Given the description of an element on the screen output the (x, y) to click on. 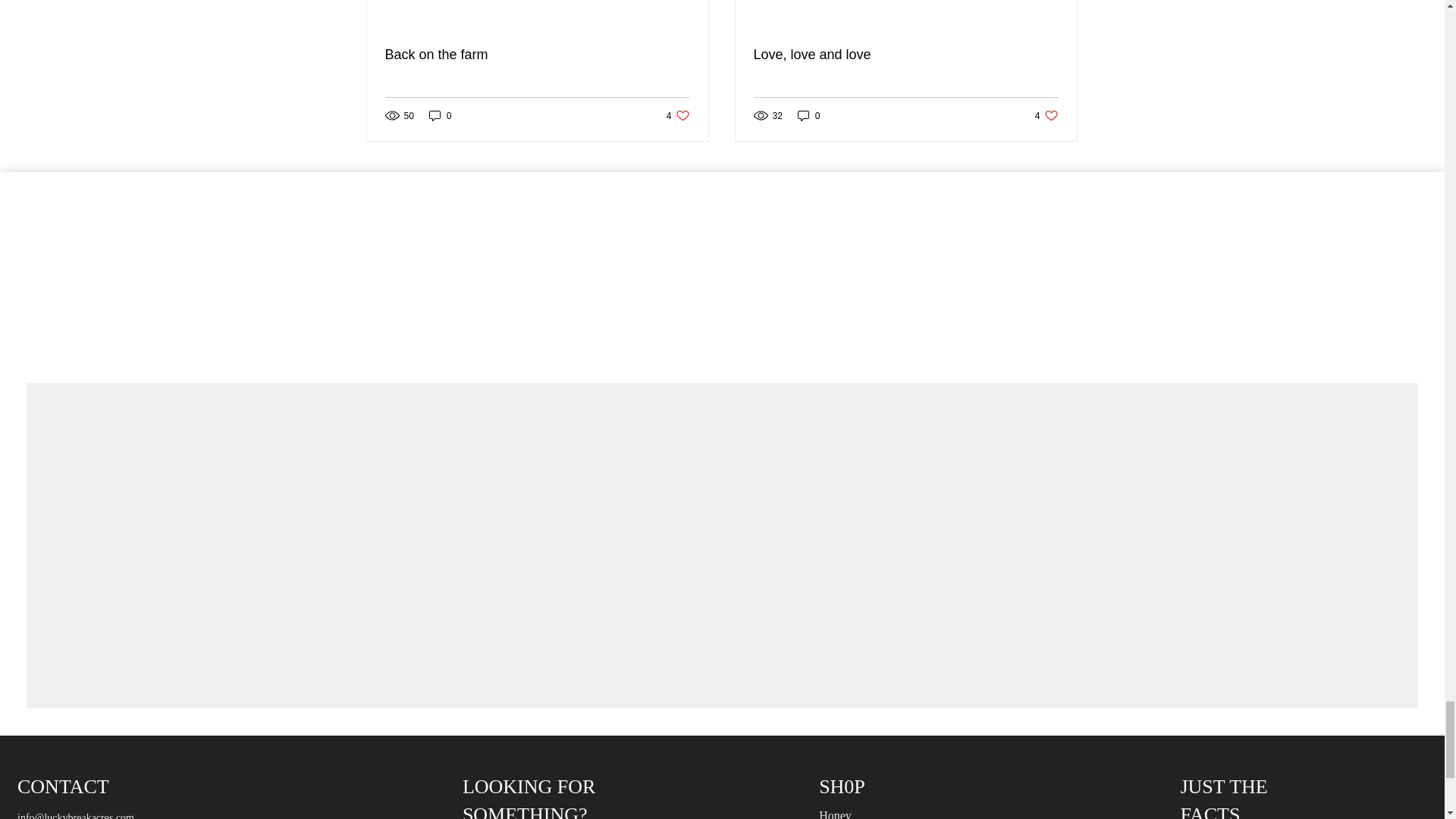
0 (809, 115)
Love, love and love (678, 115)
0 (906, 54)
Back on the farm (440, 115)
